Given the description of an element on the screen output the (x, y) to click on. 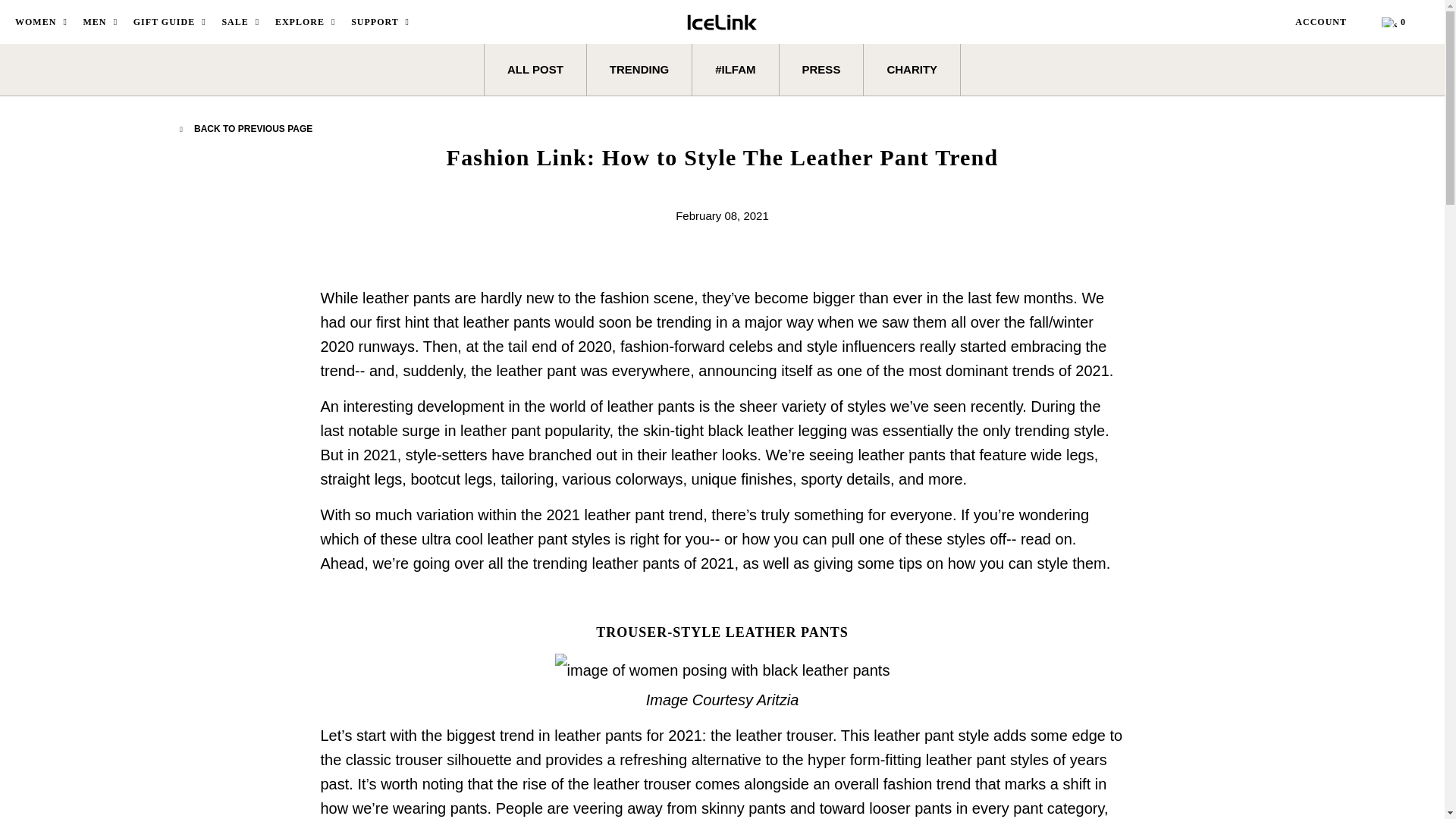
MEN (102, 22)
WOMEN (42, 22)
My Account  (1330, 22)
IceLink (722, 18)
Search (1276, 21)
